Given the description of an element on the screen output the (x, y) to click on. 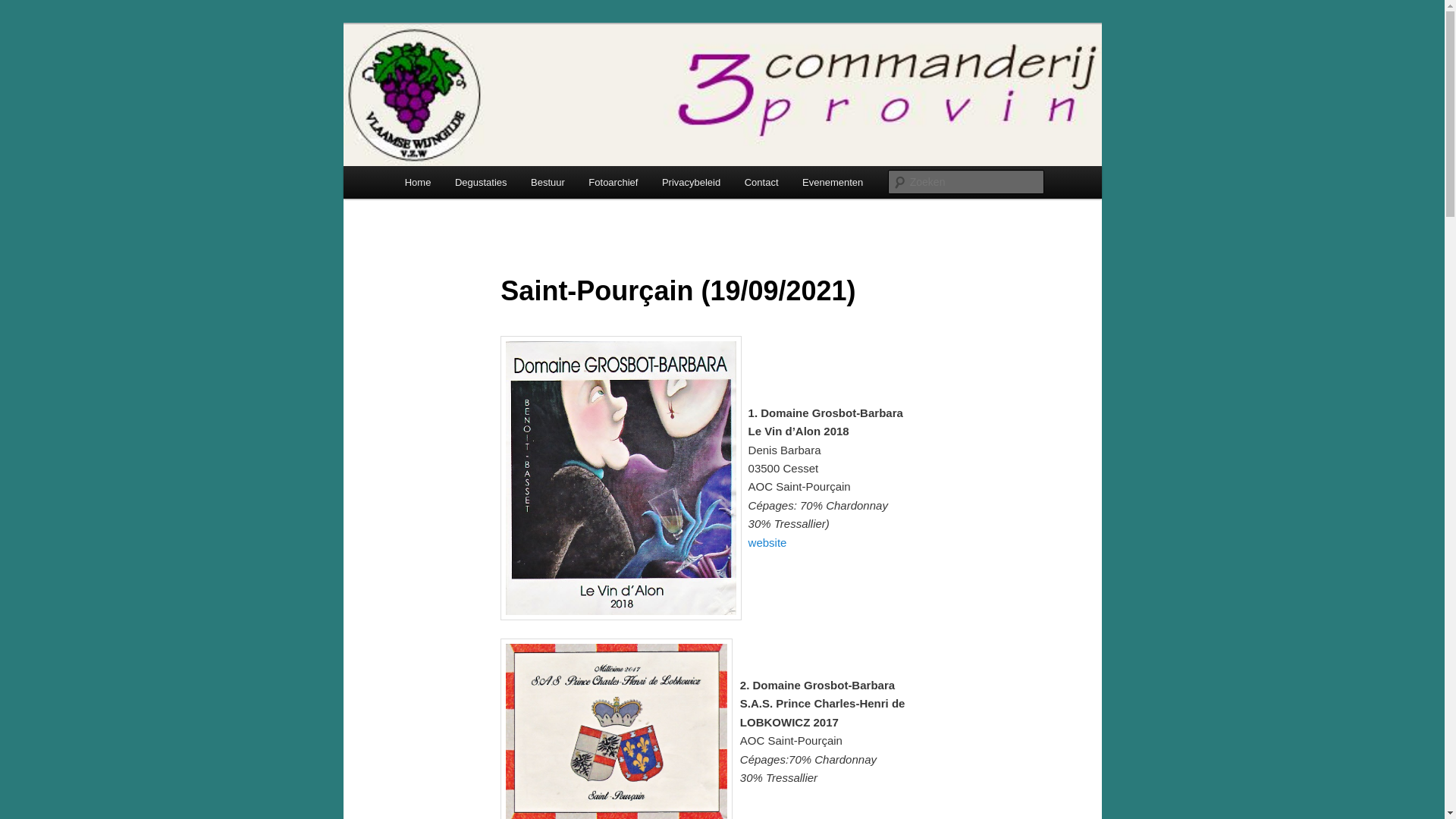
Fotoarchief Element type: text (613, 182)
Zoeken Element type: text (21, 10)
Home Element type: text (417, 182)
Degustaties Element type: text (480, 182)
Privacybeleid Element type: text (690, 182)
Spring naar de primaire inhoud Element type: text (22, 22)
Contact Element type: text (761, 182)
website Element type: text (767, 542)
Zoeken Element type: text (25, 8)
Evenementen Element type: text (832, 182)
Bestuur Element type: text (547, 182)
3ProVin Element type: text (443, 78)
